Given the description of an element on the screen output the (x, y) to click on. 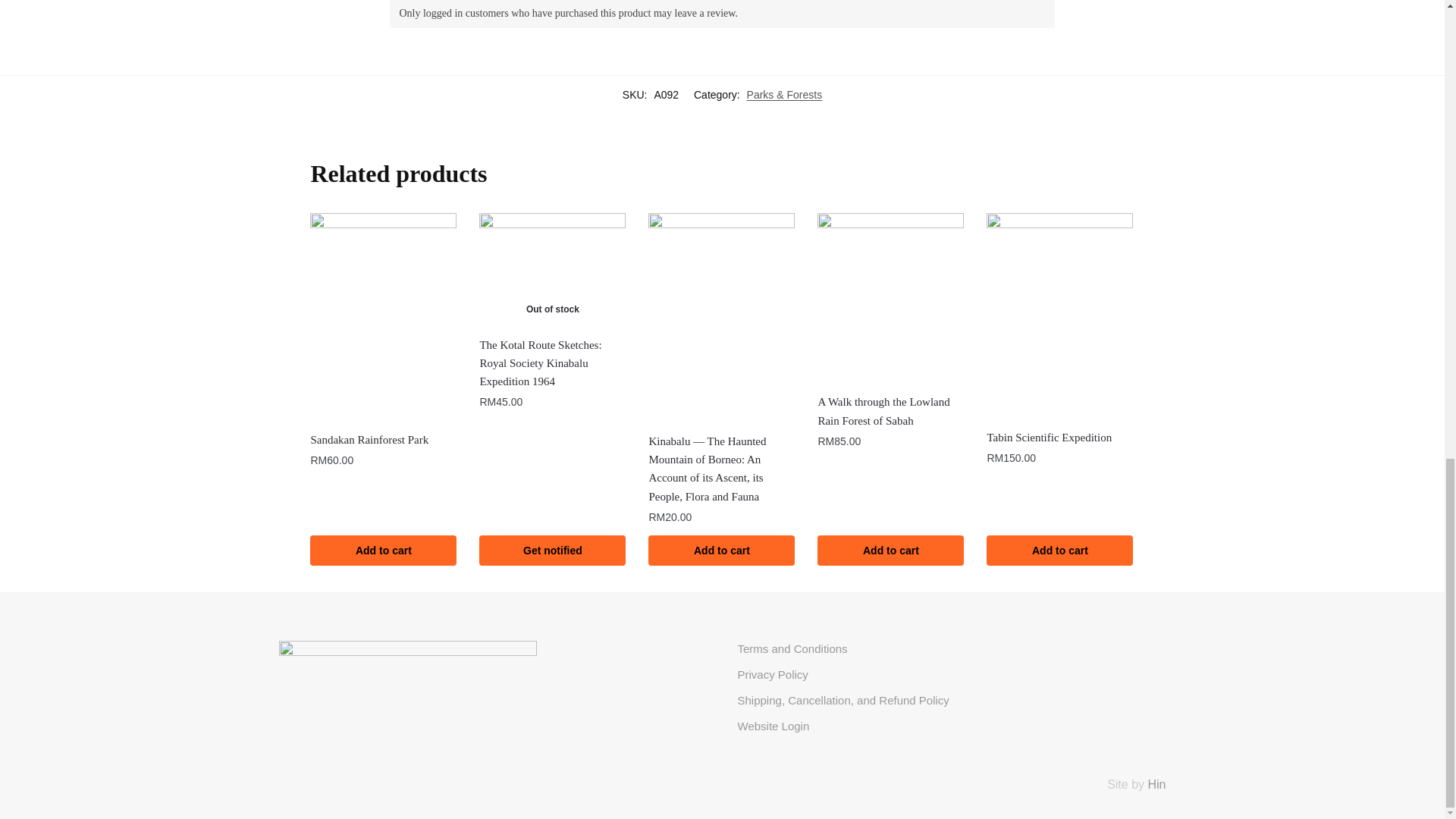
Sandakan Rainforest Park (383, 439)
Out of stock (552, 268)
Hin Design (1156, 784)
Add to cart (383, 550)
